Given the description of an element on the screen output the (x, y) to click on. 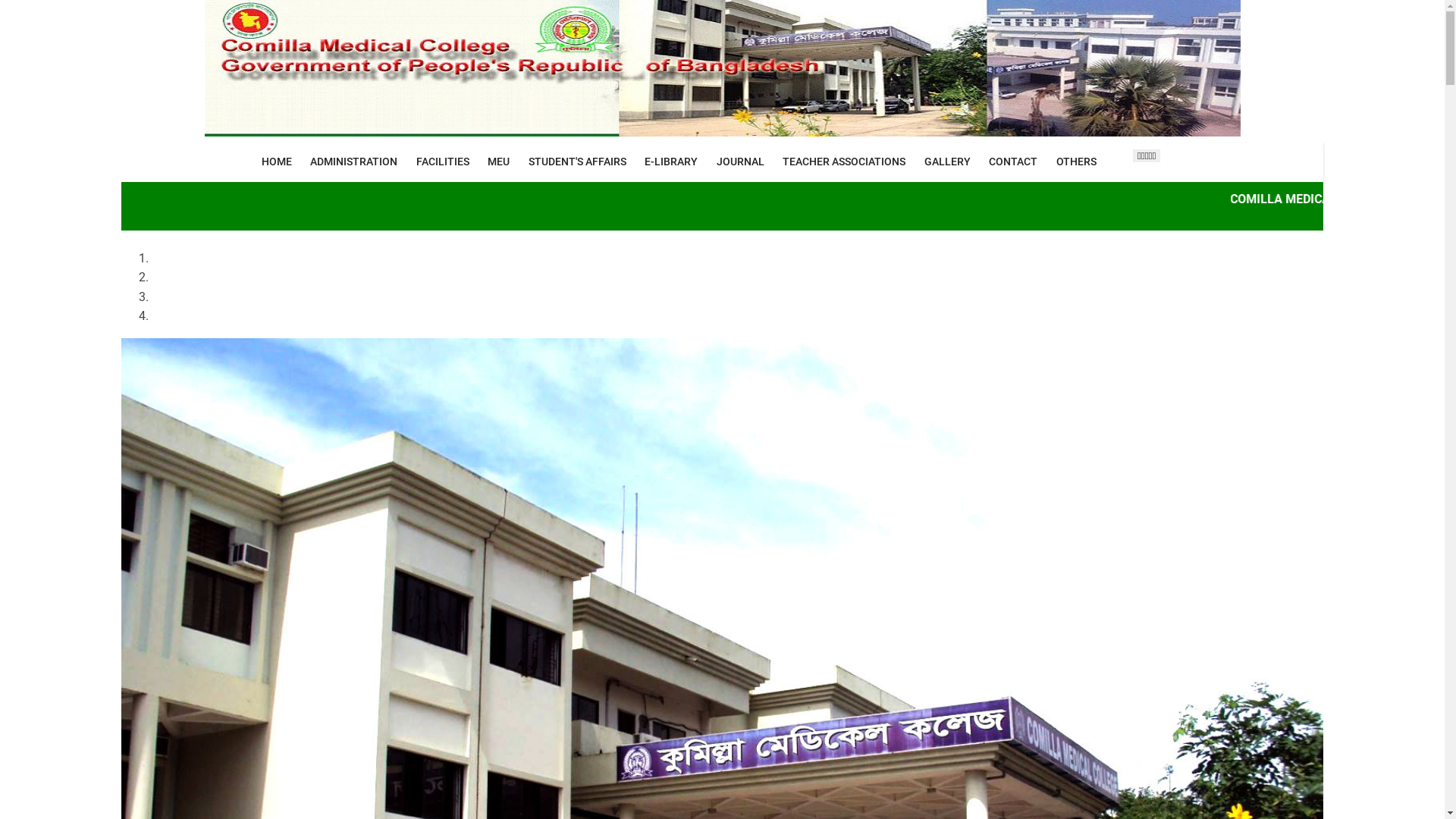
ADMINISTRATION Element type: text (354, 162)
E-LIBRARY Element type: text (671, 162)
FACILITIES Element type: text (442, 162)
MEU Element type: text (498, 162)
JOURNAL Element type: text (739, 162)
STUDENT'S AFFAIRS Element type: text (576, 162)
TEACHER ASSOCIATIONS Element type: text (844, 162)
OTHERS Element type: text (1075, 162)
GALLERY Element type: text (946, 162)
HOME Element type: text (276, 162)
CONTACT Element type: text (1013, 162)
